Given the description of an element on the screen output the (x, y) to click on. 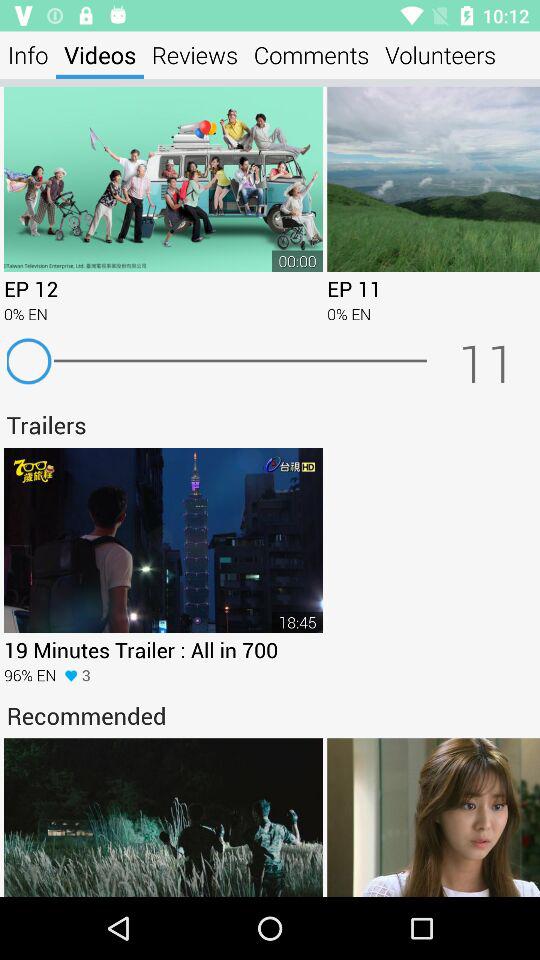
tap the videos (100, 54)
